Given the description of an element on the screen output the (x, y) to click on. 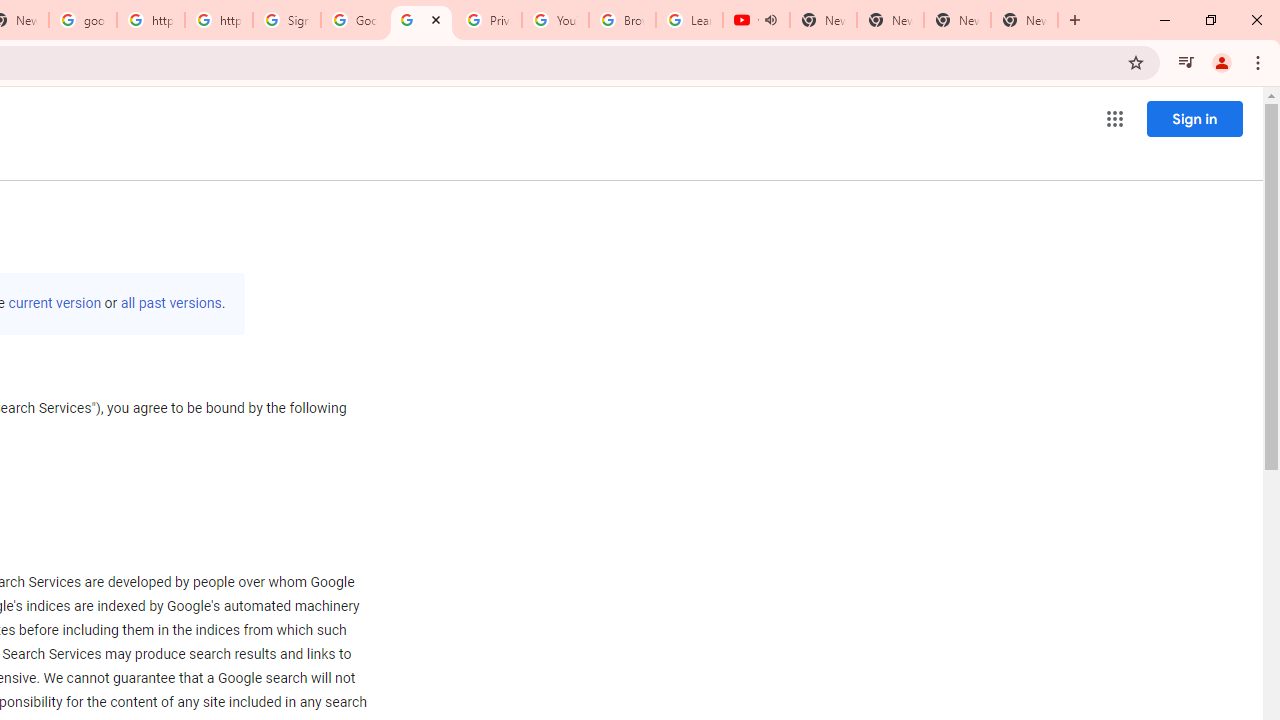
Sign in - Google Accounts (287, 20)
https://scholar.google.com/ (150, 20)
all past versions (170, 303)
YouTube (555, 20)
